Given the description of an element on the screen output the (x, y) to click on. 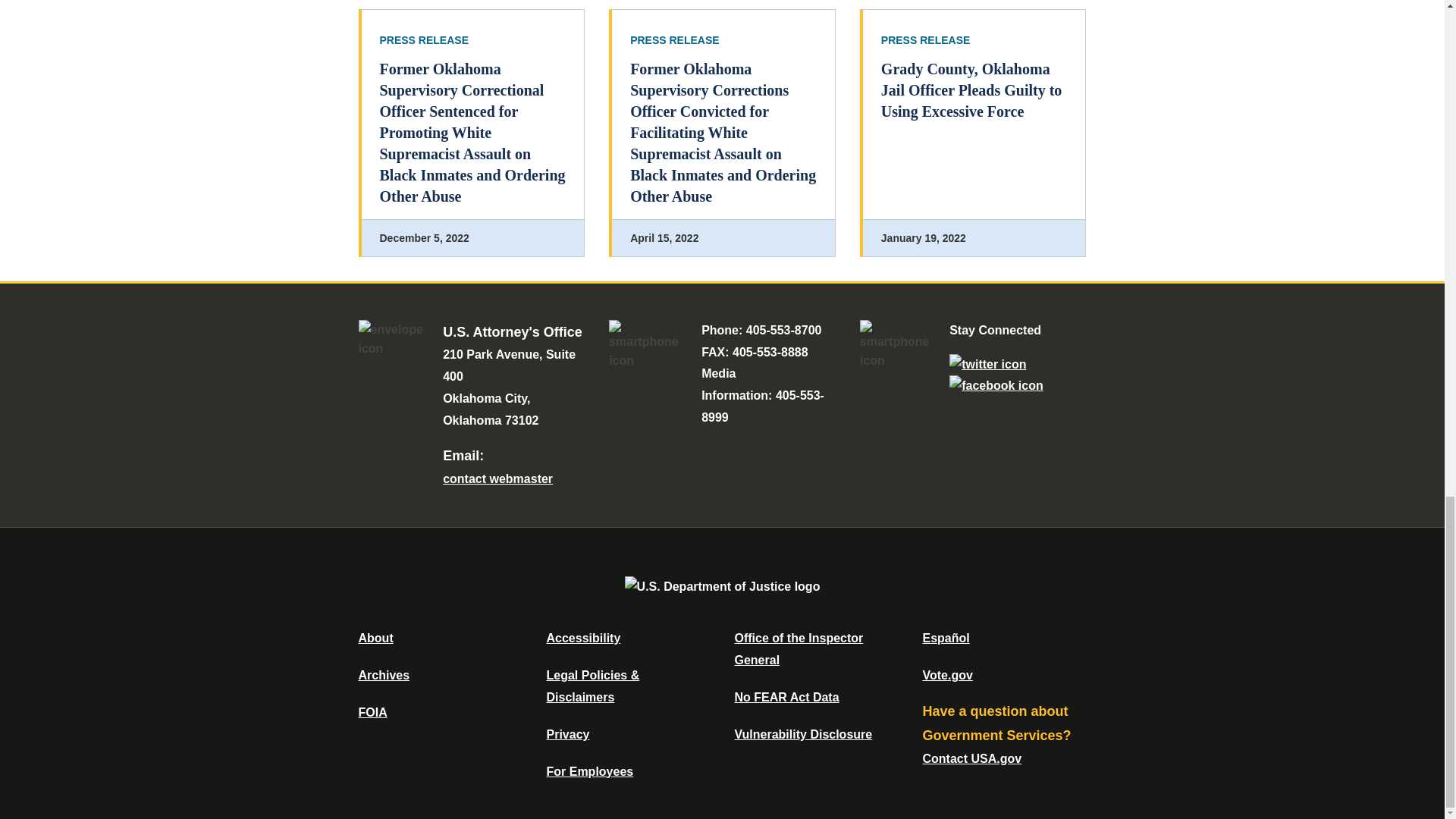
Department of Justice Archive (383, 675)
For Employees (589, 771)
Office of Information Policy (372, 712)
About DOJ (375, 637)
Accessibility Statement (583, 637)
Data Posted Pursuant To The No Fear Act (785, 697)
Legal Policies and Disclaimers (592, 686)
